Given the description of an element on the screen output the (x, y) to click on. 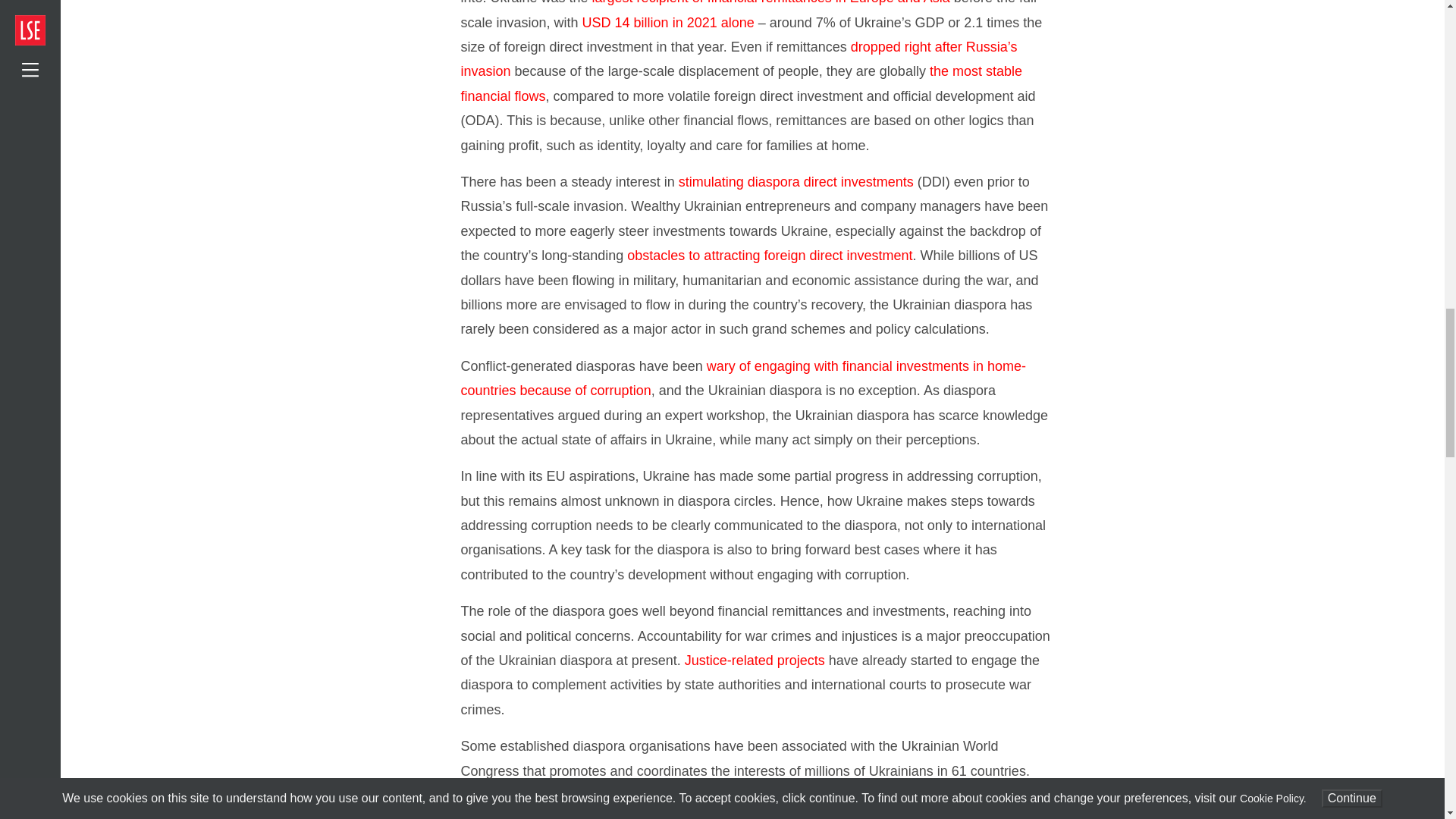
stimulating diaspora direct investments (796, 181)
USD 14 billion in 2021 alone (668, 22)
the most stable financial flows (741, 83)
obstacles to attracting foreign direct investment (769, 255)
